Given the description of an element on the screen output the (x, y) to click on. 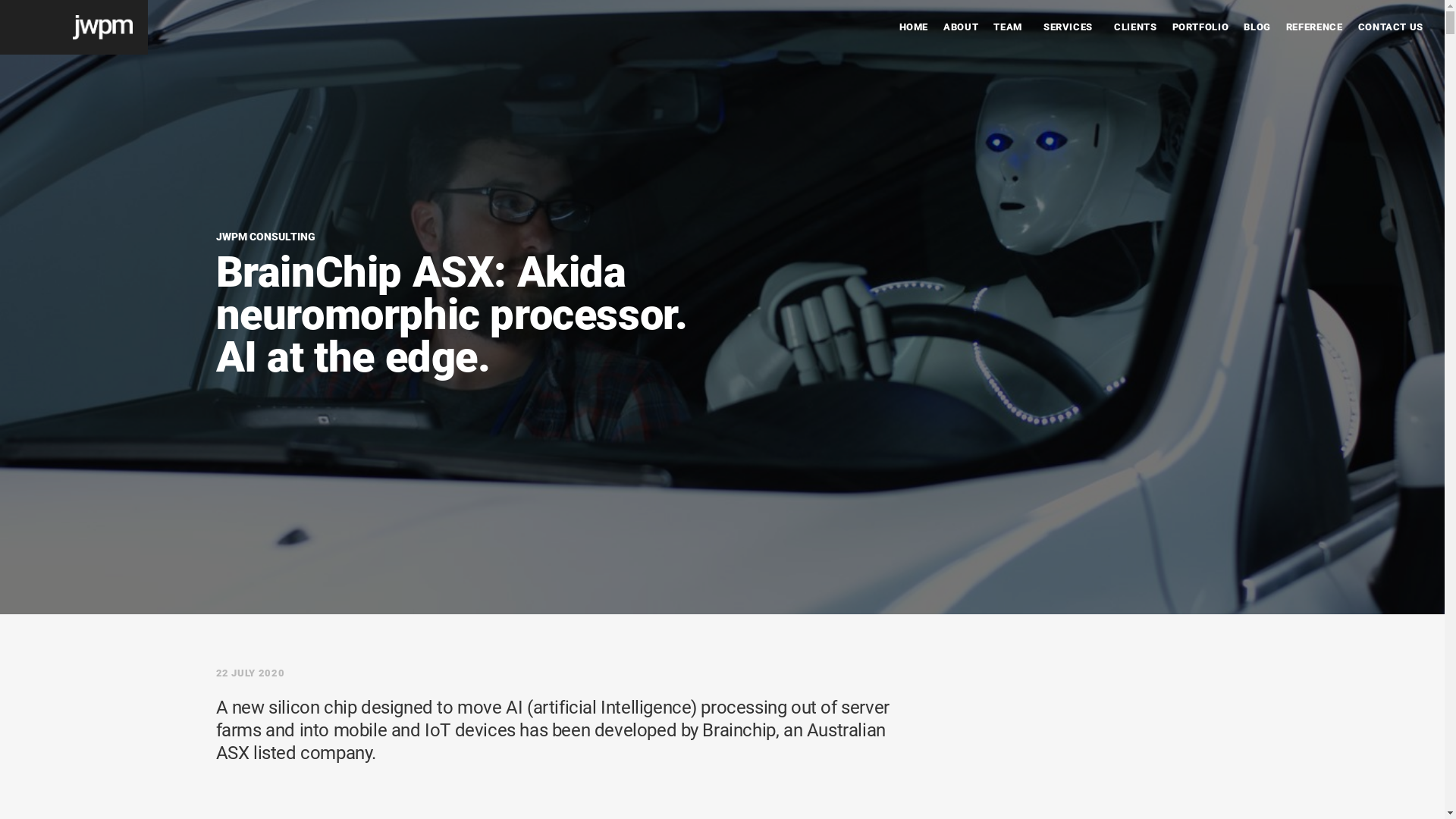
TEAM Element type: text (1007, 26)
PORTFOLIO Element type: text (1200, 26)
ABOUT Element type: text (960, 26)
CONTACT US Element type: text (1390, 26)
SERVICES Element type: text (1067, 26)
BLOG Element type: text (1256, 26)
HOME Element type: text (913, 26)
REFERENCE Element type: text (1314, 26)
CLIENTS Element type: text (1134, 26)
